Given the description of an element on the screen output the (x, y) to click on. 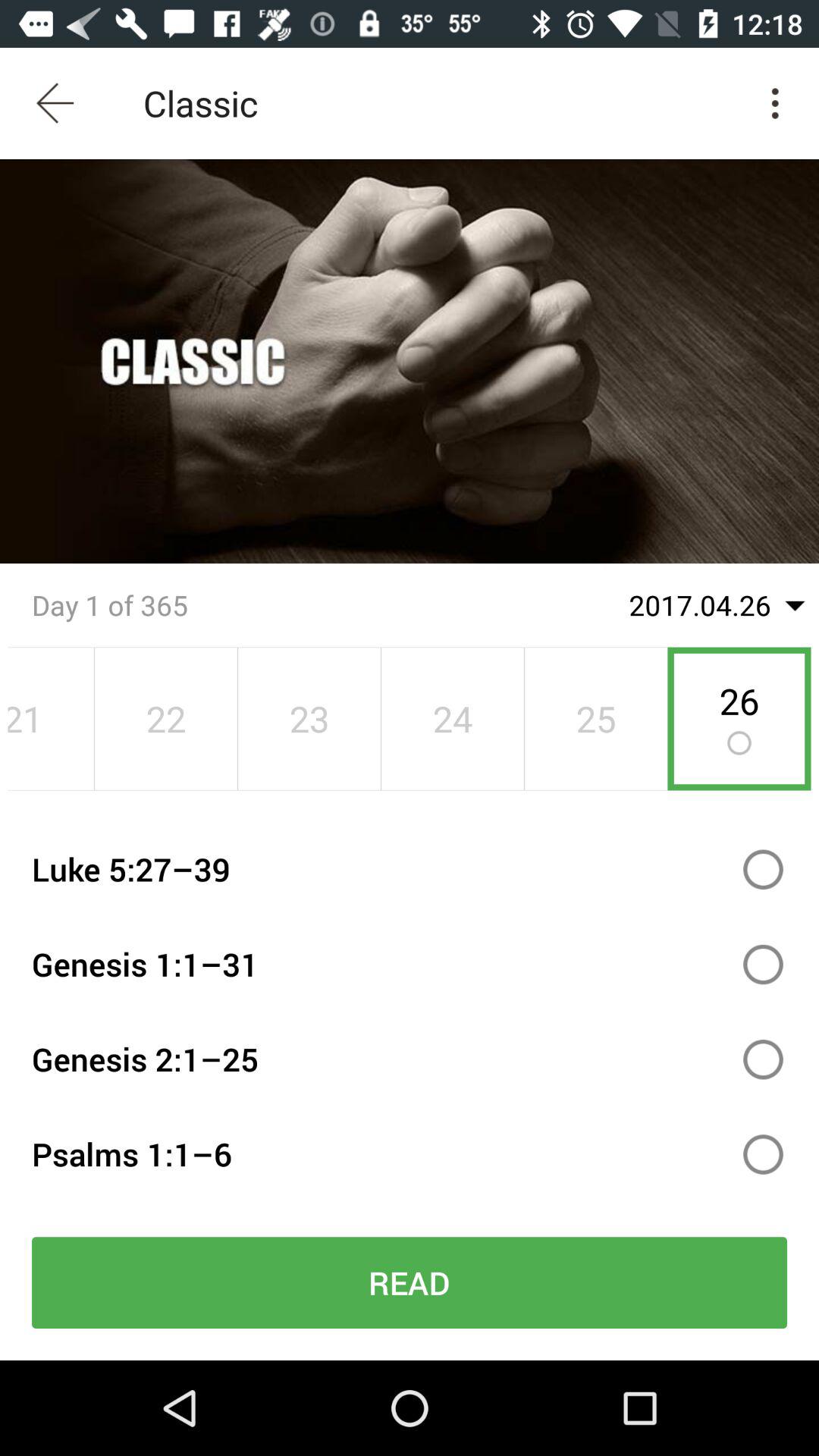
select an option (763, 964)
